Given the description of an element on the screen output the (x, y) to click on. 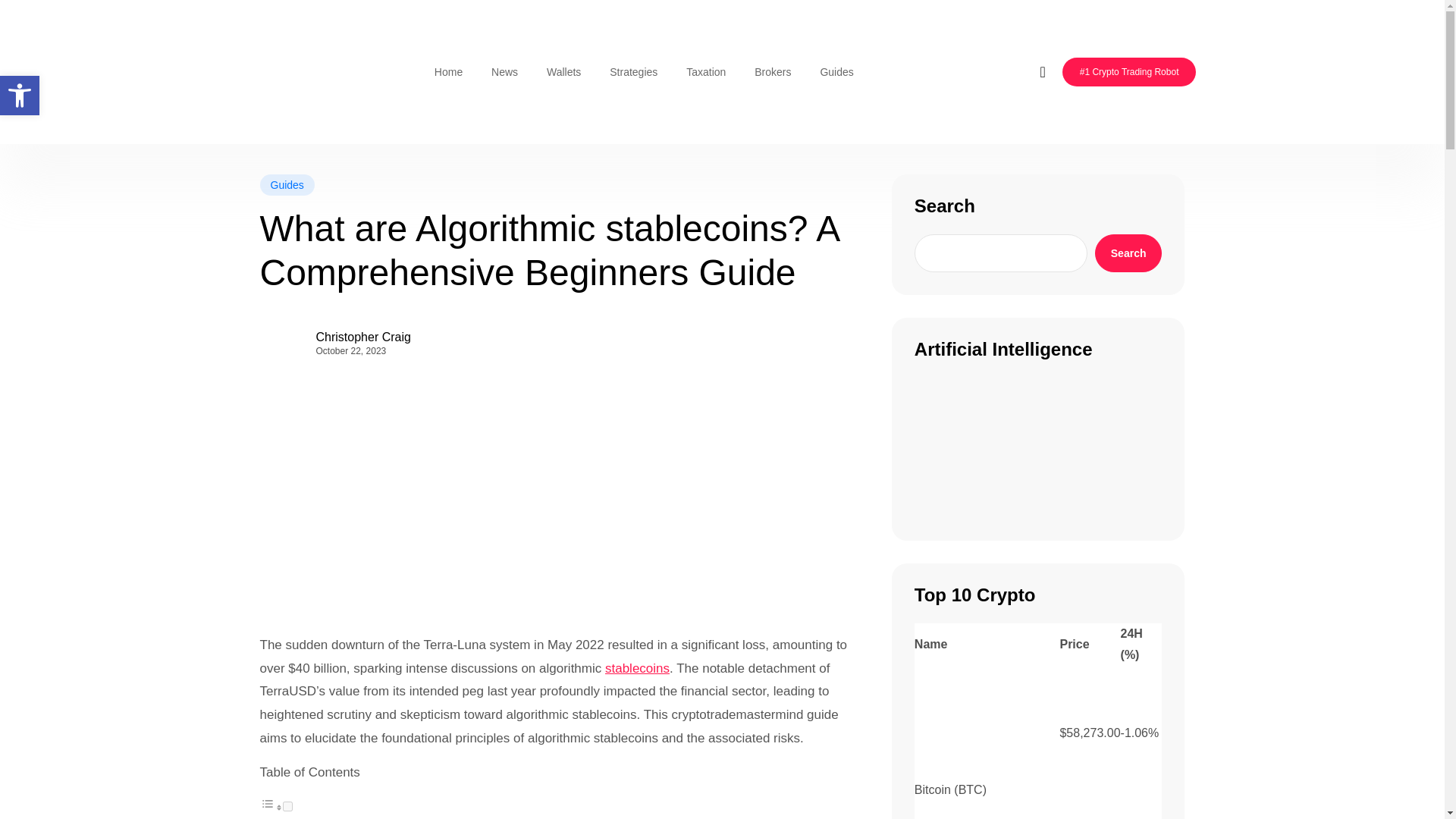
Guides (836, 71)
Search (1127, 252)
Guides (286, 184)
on (287, 806)
Home (449, 71)
Wallets (564, 71)
Strategies (632, 71)
stablecoins (637, 668)
Taxation (705, 71)
Accessibility Tools (19, 95)
